Given the description of an element on the screen output the (x, y) to click on. 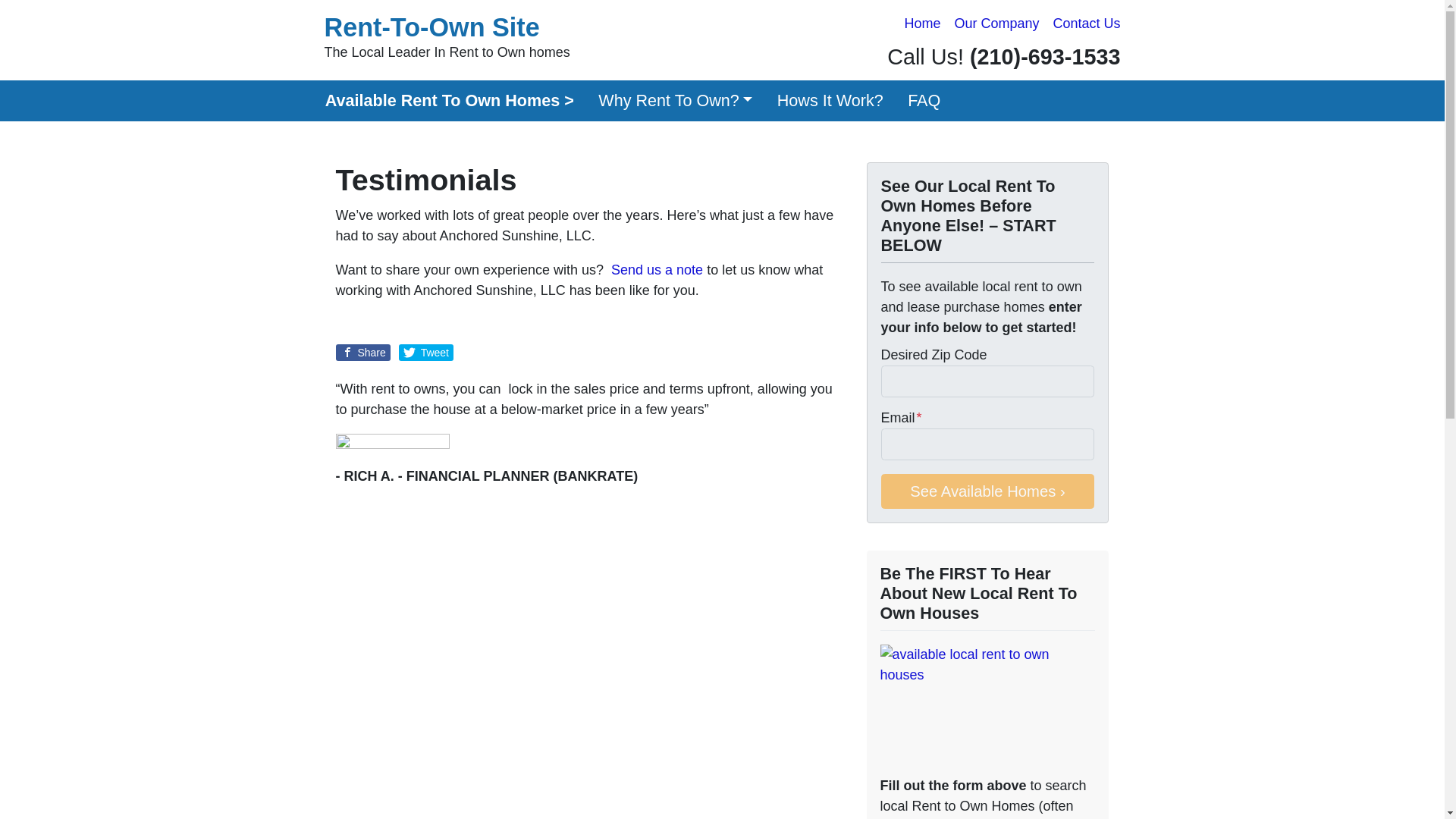
Why Rent To Own?  (675, 100)
Hows It Work? (830, 100)
Our Company (996, 23)
Hows It Work? (830, 100)
Share on Facebook (362, 352)
FAQ (924, 100)
Send us a note (657, 269)
Tweet (425, 352)
FAQ (924, 100)
Why Rent To Own? (675, 100)
Home (921, 23)
available local rent to own houses (986, 706)
Contact Us (1085, 23)
Share on Twitter (447, 38)
